Given the description of an element on the screen output the (x, y) to click on. 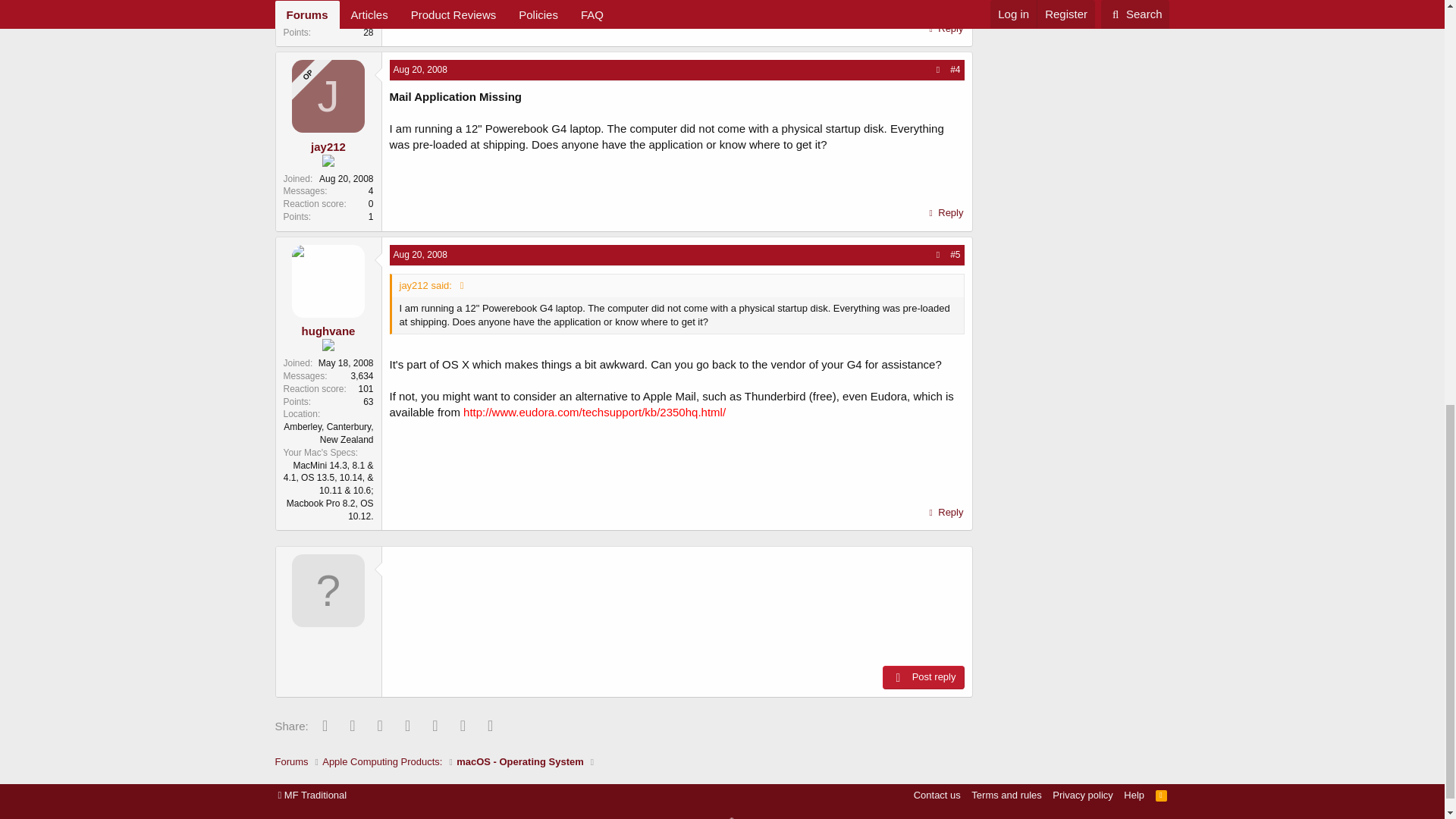
RSS (1161, 794)
Style chooser (312, 794)
Aug 20, 2008 at 10:25 AM (419, 69)
Reply, quoting this message (944, 512)
Reply, quoting this message (944, 212)
Aug 20, 2008 at 3:20 PM (419, 254)
Reply, quoting this message (944, 28)
